Given the description of an element on the screen output the (x, y) to click on. 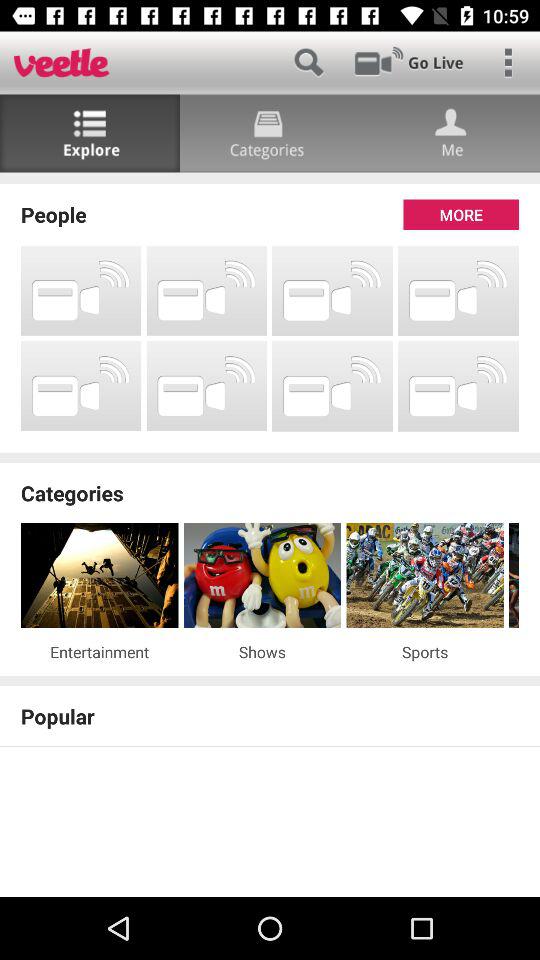
select the people icon (270, 214)
